Given the description of an element on the screen output the (x, y) to click on. 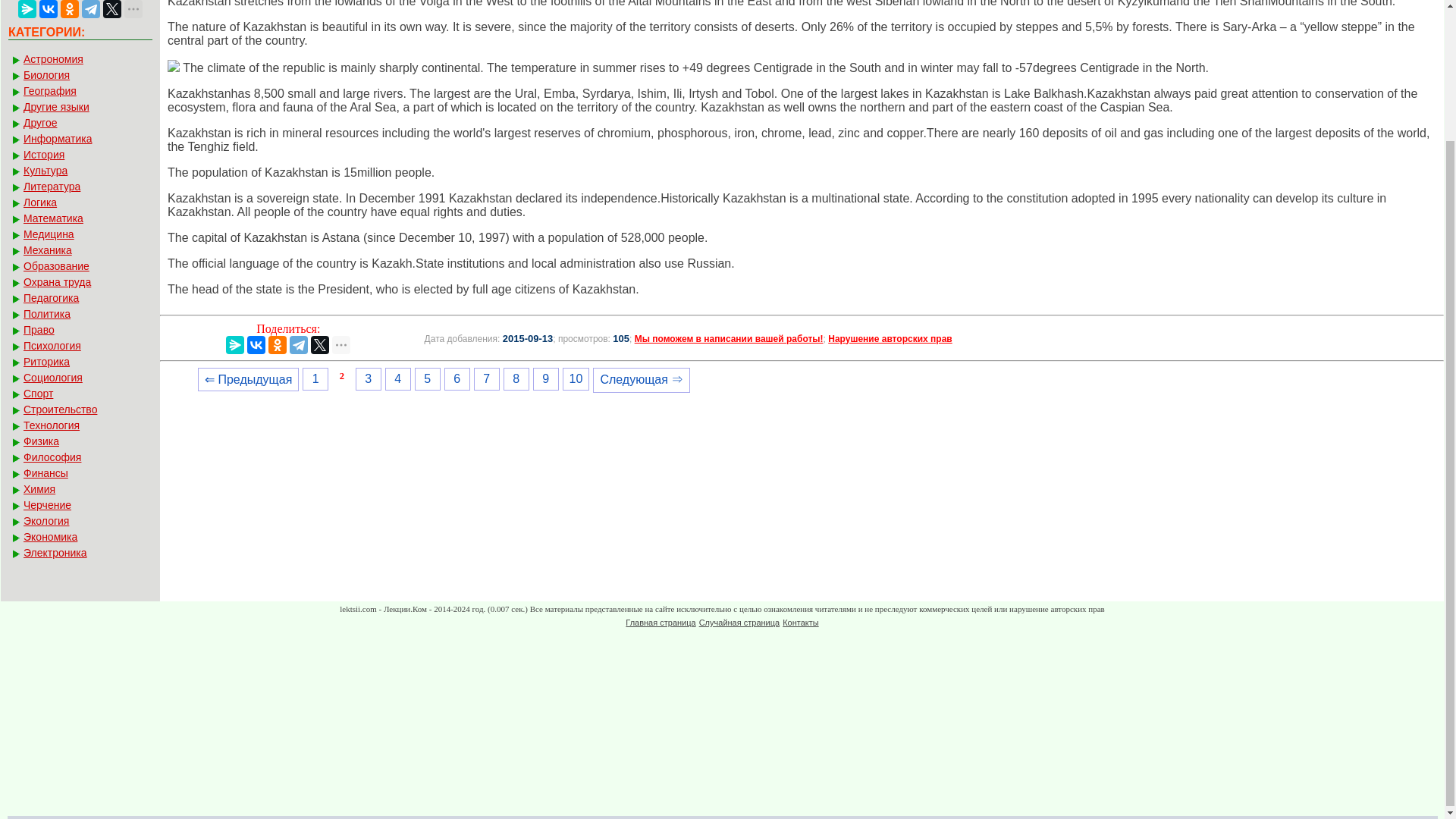
Twitter (320, 344)
Telegram (90, 9)
Telegram (298, 344)
Twitter (111, 9)
